Given the description of an element on the screen output the (x, y) to click on. 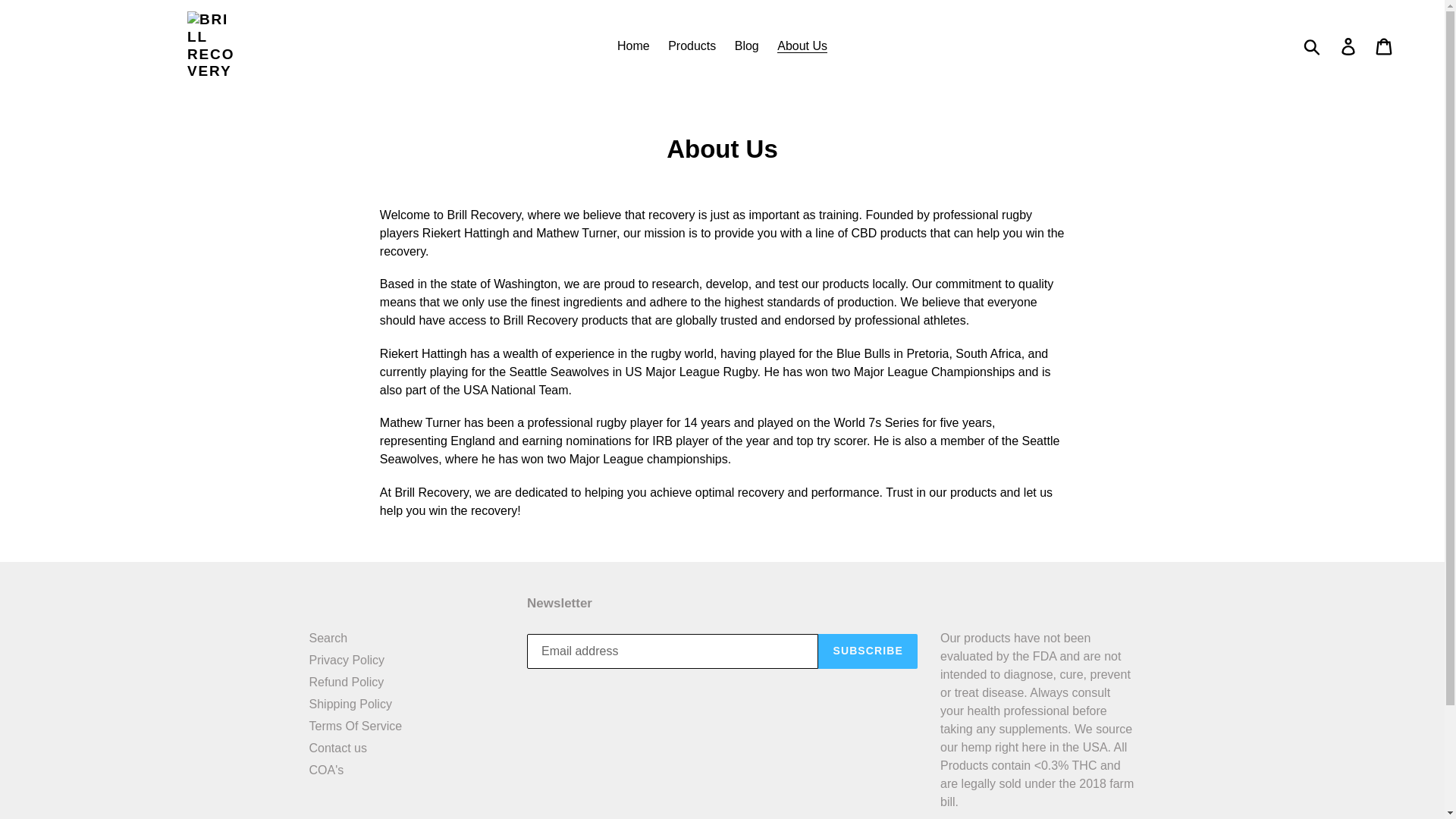
Refund Policy (346, 681)
Shipping Policy (349, 703)
Contact us (337, 748)
About Us (802, 46)
Privacy Policy (346, 659)
Home (634, 46)
Products (692, 46)
COA's (325, 769)
Search (327, 637)
Log in (1349, 45)
Terms Of Service (355, 725)
Submit (1313, 46)
Blog (746, 46)
